Given the description of an element on the screen output the (x, y) to click on. 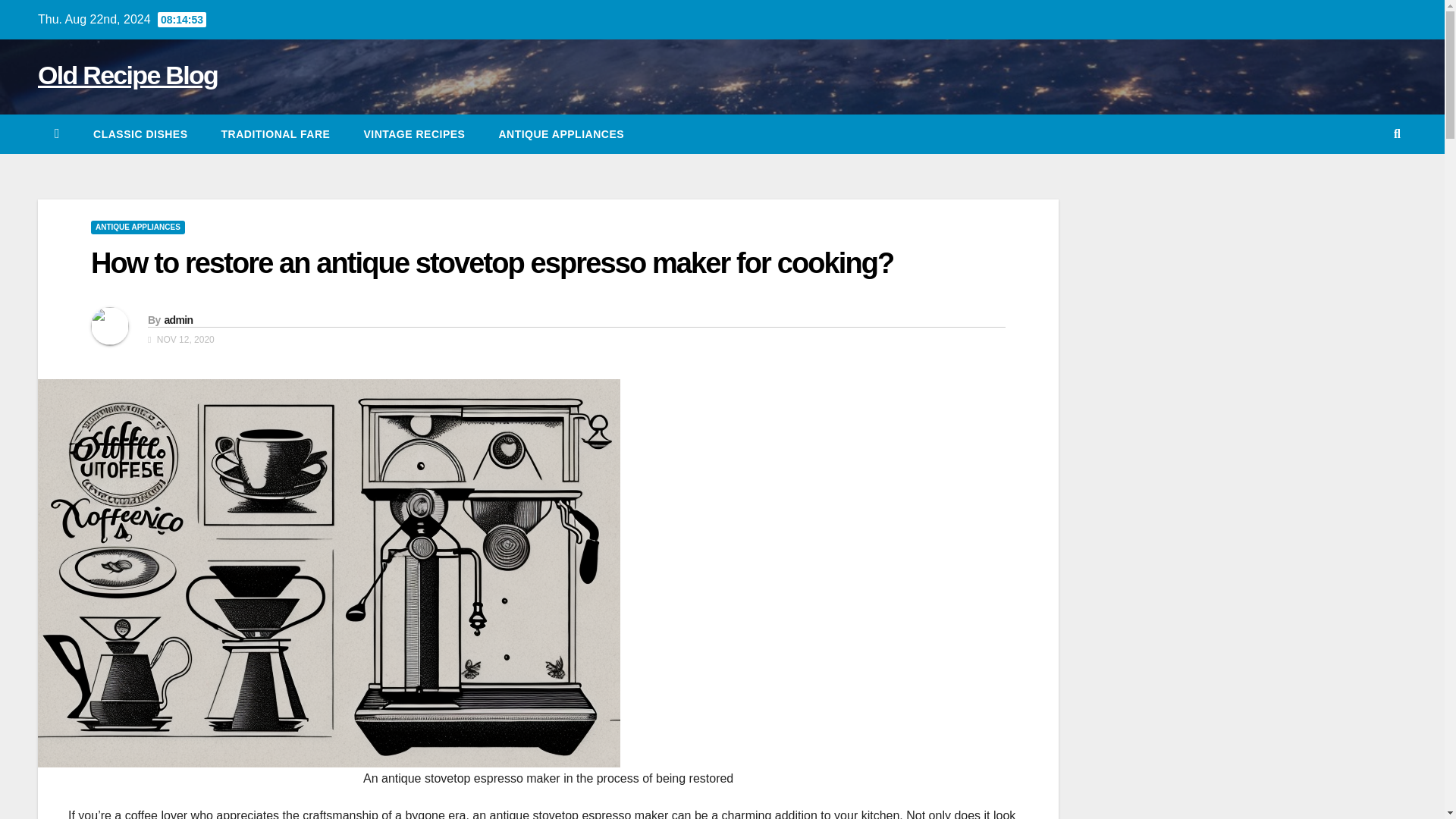
VINTAGE RECIPES (413, 133)
CLASSIC DISHES (140, 133)
ANTIQUE APPLIANCES (560, 133)
Traditional Fare (276, 133)
TRADITIONAL FARE (276, 133)
ANTIQUE APPLIANCES (137, 227)
Vintage Recipes (413, 133)
Classic Dishes (140, 133)
